Given the description of an element on the screen output the (x, y) to click on. 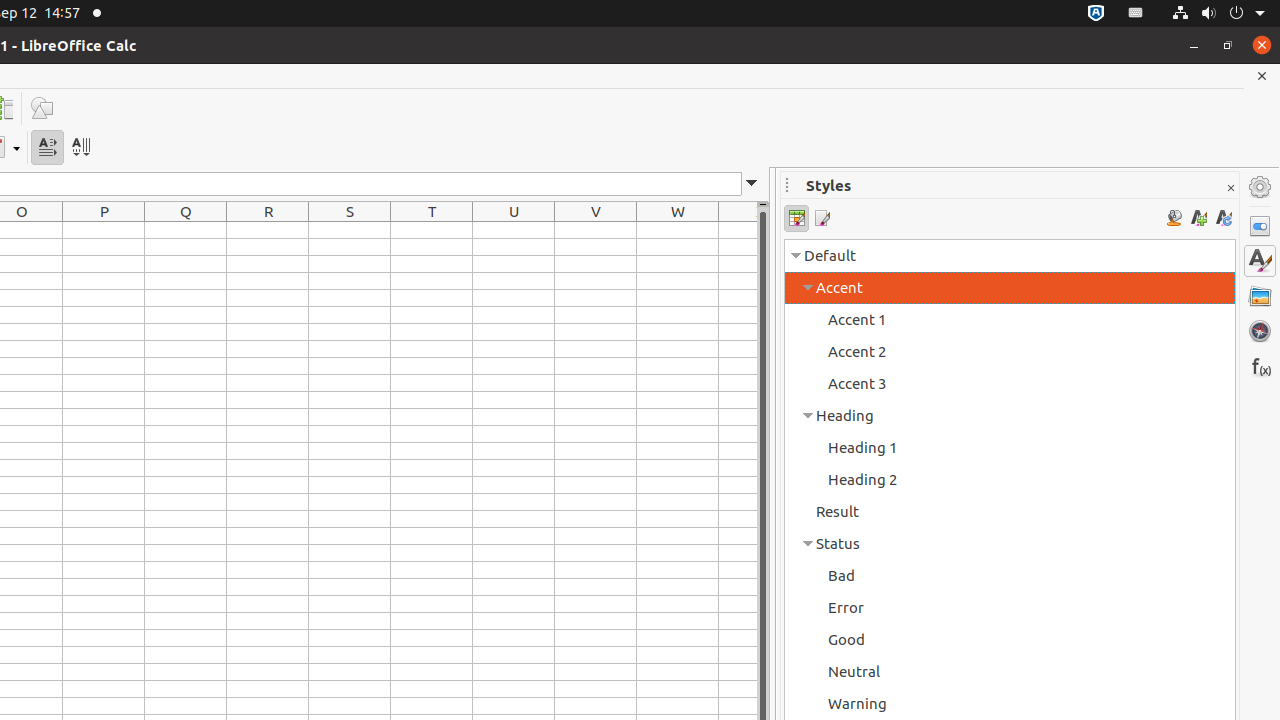
Cell Styles Element type: push-button (796, 218)
W1 Element type: table-cell (678, 230)
Q1 Element type: table-cell (186, 230)
T1 Element type: table-cell (432, 230)
Navigator Element type: radio-button (1260, 331)
